Given the description of an element on the screen output the (x, y) to click on. 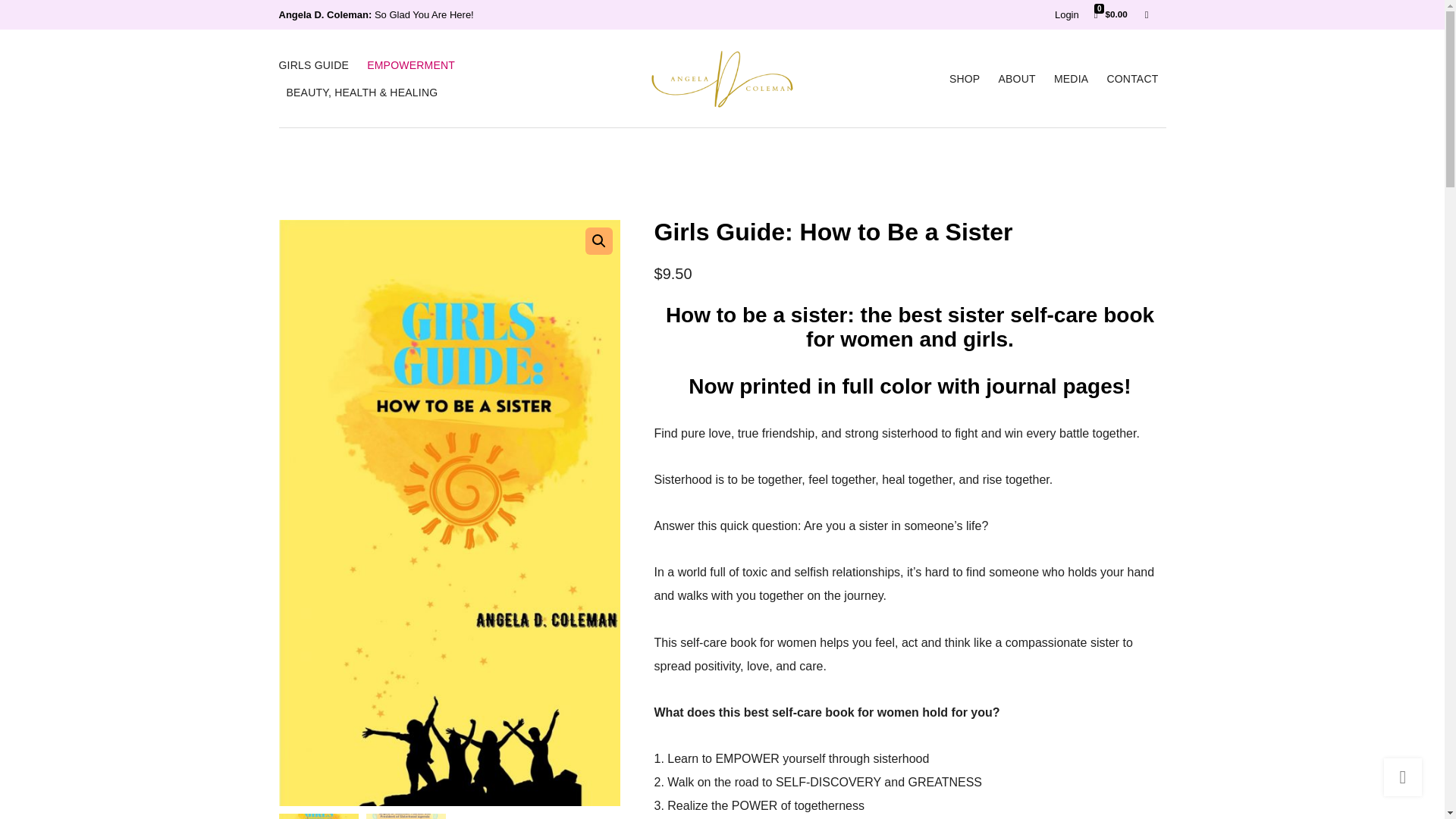
SHOP (964, 78)
MEDIA (1070, 78)
EMPOWERMENT (410, 64)
Login (1066, 14)
GIRLS GUIDE (314, 64)
ABOUT (1016, 78)
CONTACT (1131, 78)
